Given the description of an element on the screen output the (x, y) to click on. 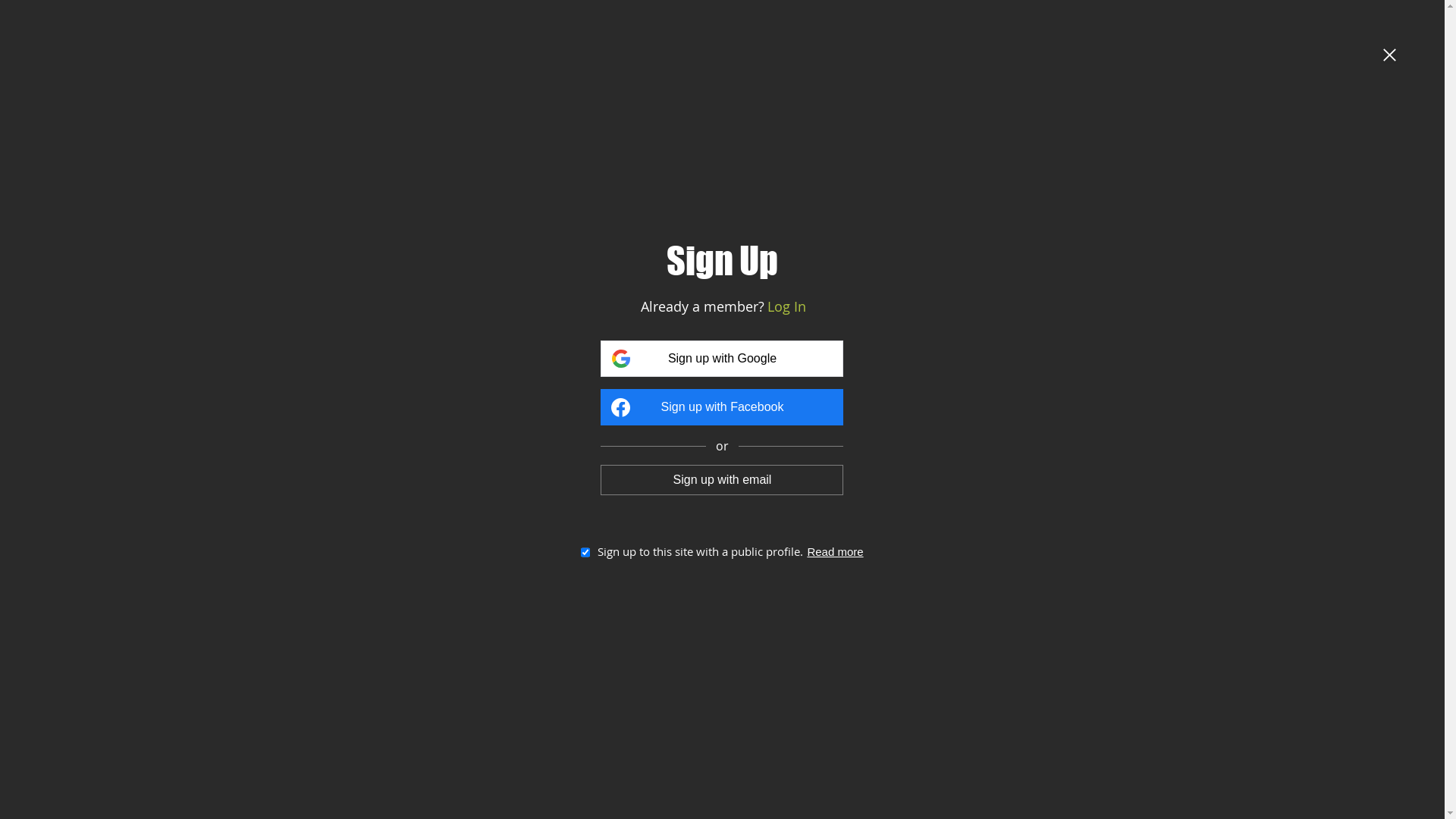
Read more Element type: text (834, 551)
Sign up with email Element type: text (721, 479)
Sign up with Google Element type: text (721, 358)
Sign up with Facebook Element type: text (721, 407)
Log In Element type: text (786, 306)
